Given the description of an element on the screen output the (x, y) to click on. 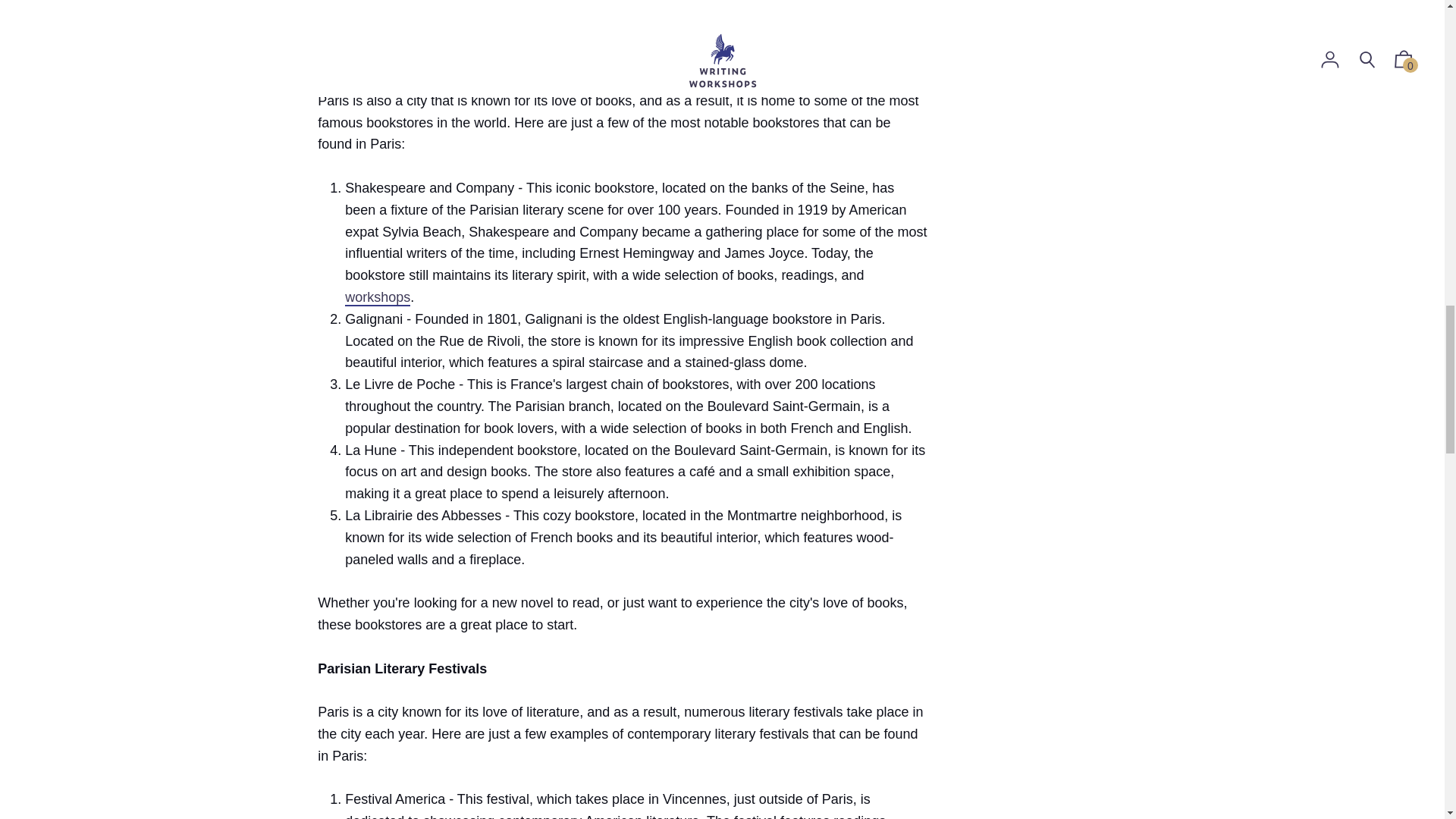
Writing Workshop in Paris, France (377, 297)
